Given the description of an element on the screen output the (x, y) to click on. 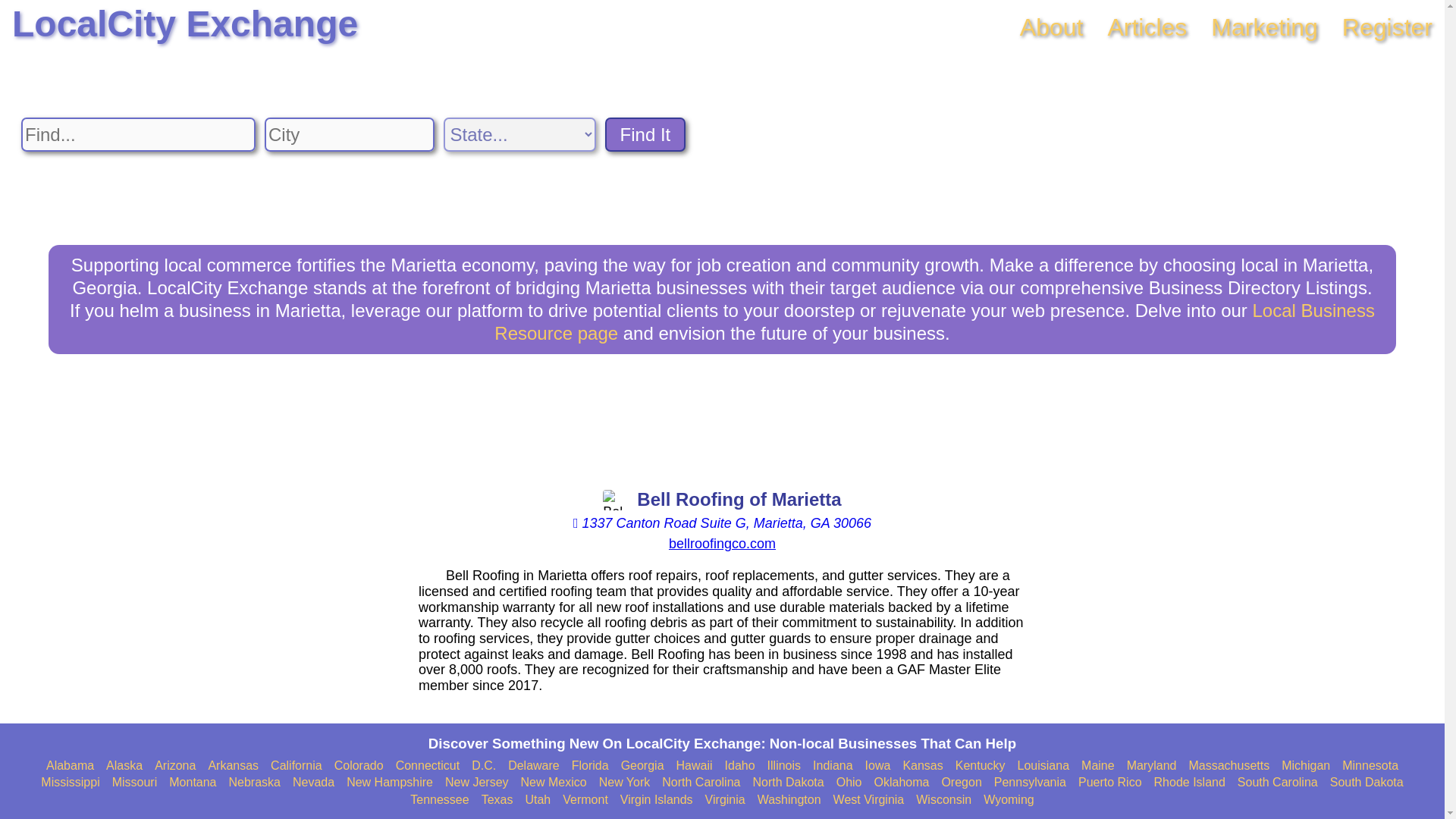
Business Marketing Opportunites (1264, 27)
Delaware (533, 766)
Arkansas (233, 766)
Missouri (134, 782)
Marketing (1264, 27)
Nevada (313, 782)
Find Businesses in Alabama (70, 766)
About (1051, 27)
Montana (191, 782)
Alabama (70, 766)
Michigan (1305, 766)
Minnesota (1369, 766)
Hawaii (695, 766)
Find Businesses in D.C. (483, 766)
Colorado (359, 766)
